Given the description of an element on the screen output the (x, y) to click on. 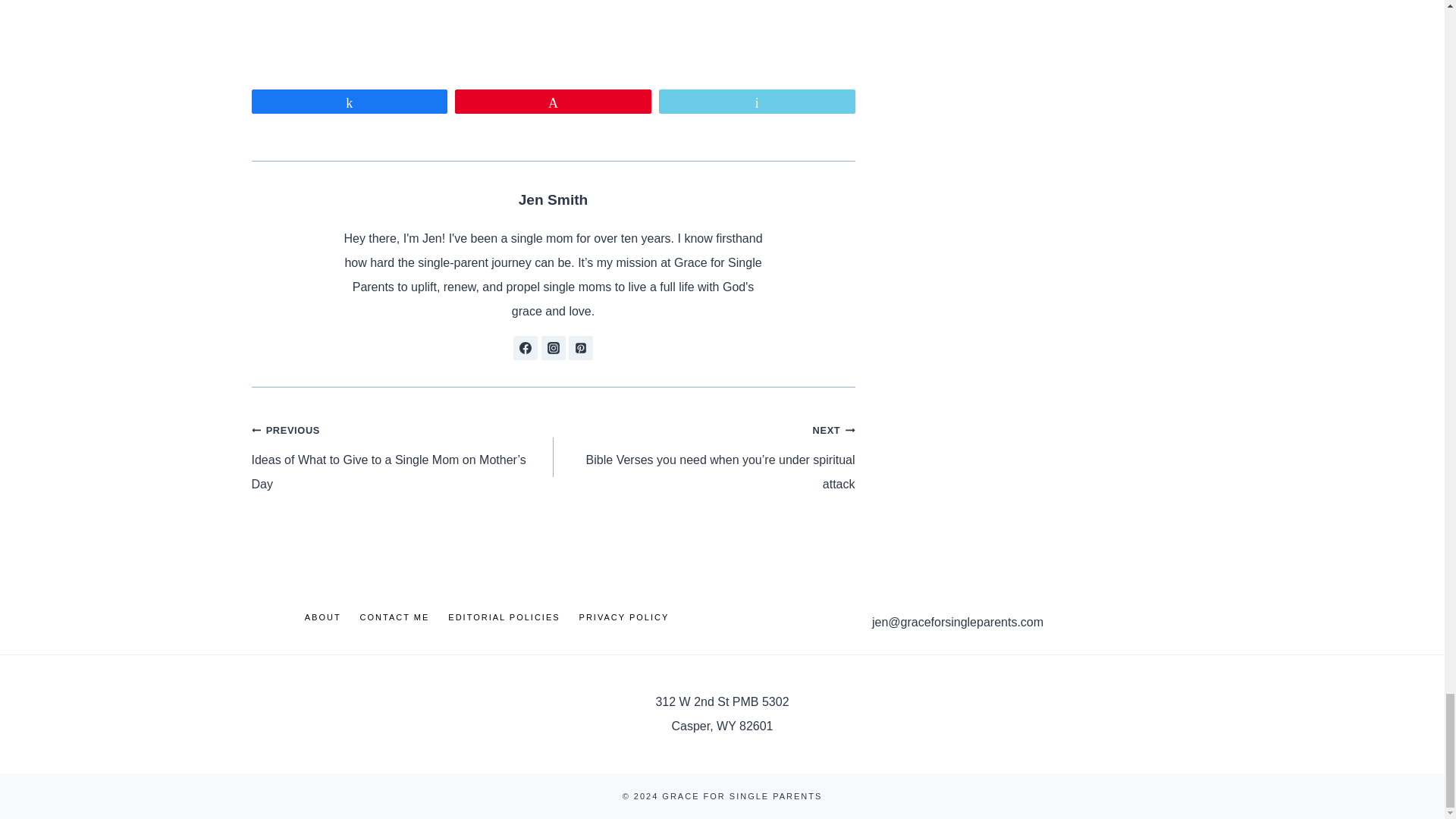
Follow Jen Smith on Facebook (525, 347)
Follow Jen Smith on Instagram (553, 347)
Follow Jen Smith on Pinterest (580, 347)
Posts by Jen Smith (553, 199)
